Given the description of an element on the screen output the (x, y) to click on. 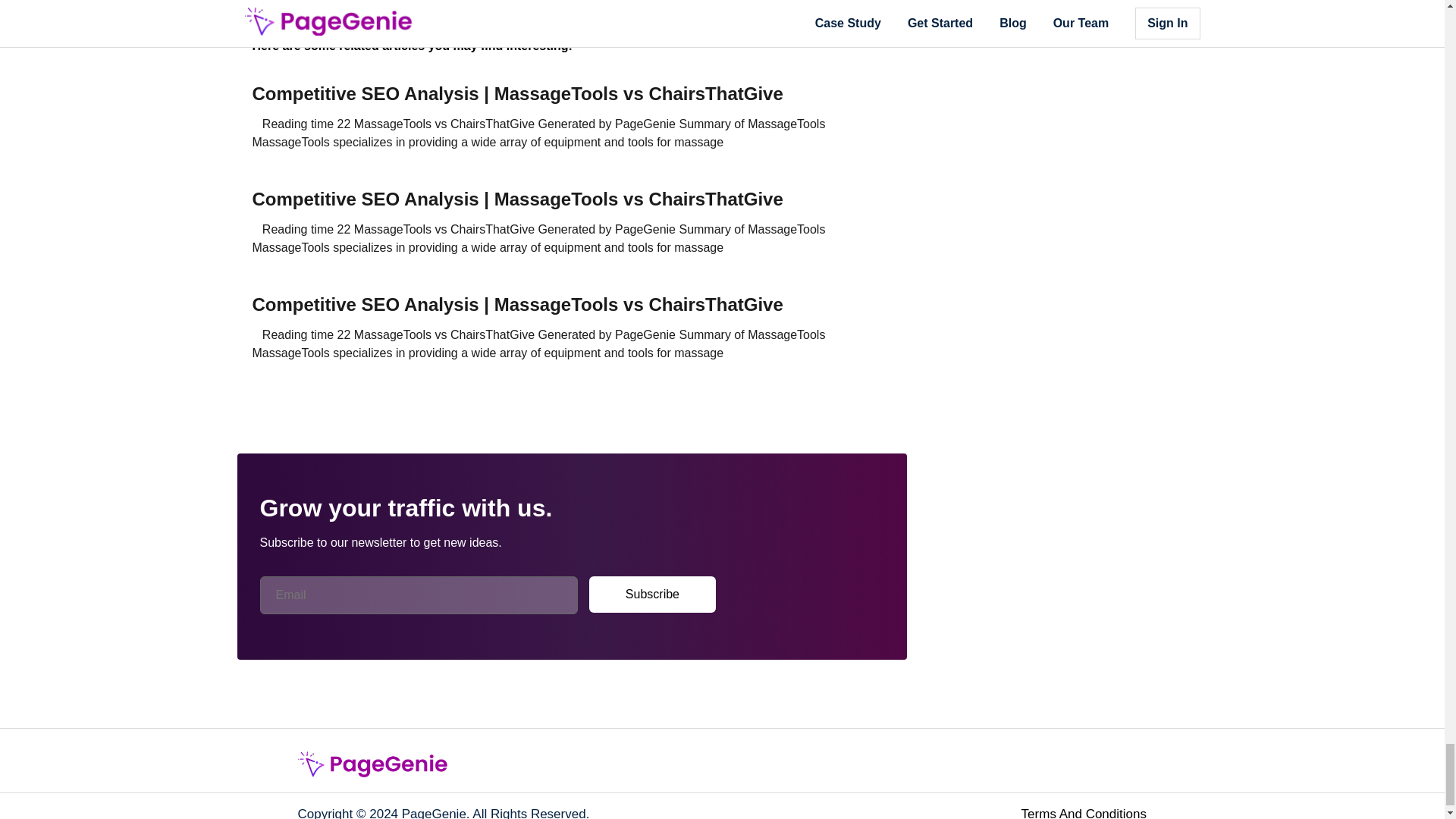
Subscribe (652, 594)
